Given the description of an element on the screen output the (x, y) to click on. 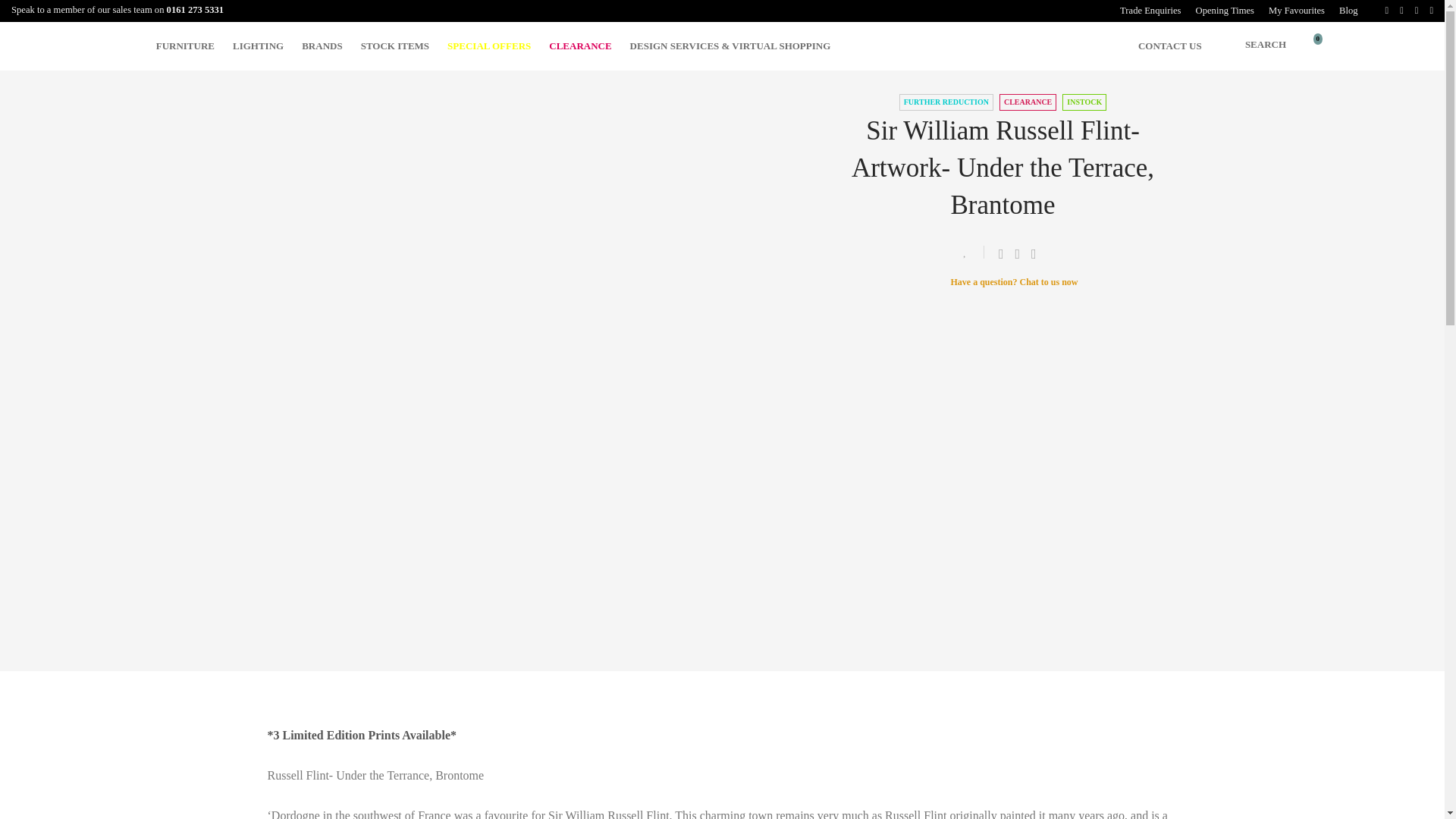
Blog (1345, 10)
Trade Enquiries (1150, 10)
LIGHTING (258, 45)
FURNITURE (185, 45)
Opening Times (1225, 10)
My Favourites (1296, 10)
CREATED WITH SKETCH. (1311, 45)
Add to Wishlist (971, 251)
